Given the description of an element on the screen output the (x, y) to click on. 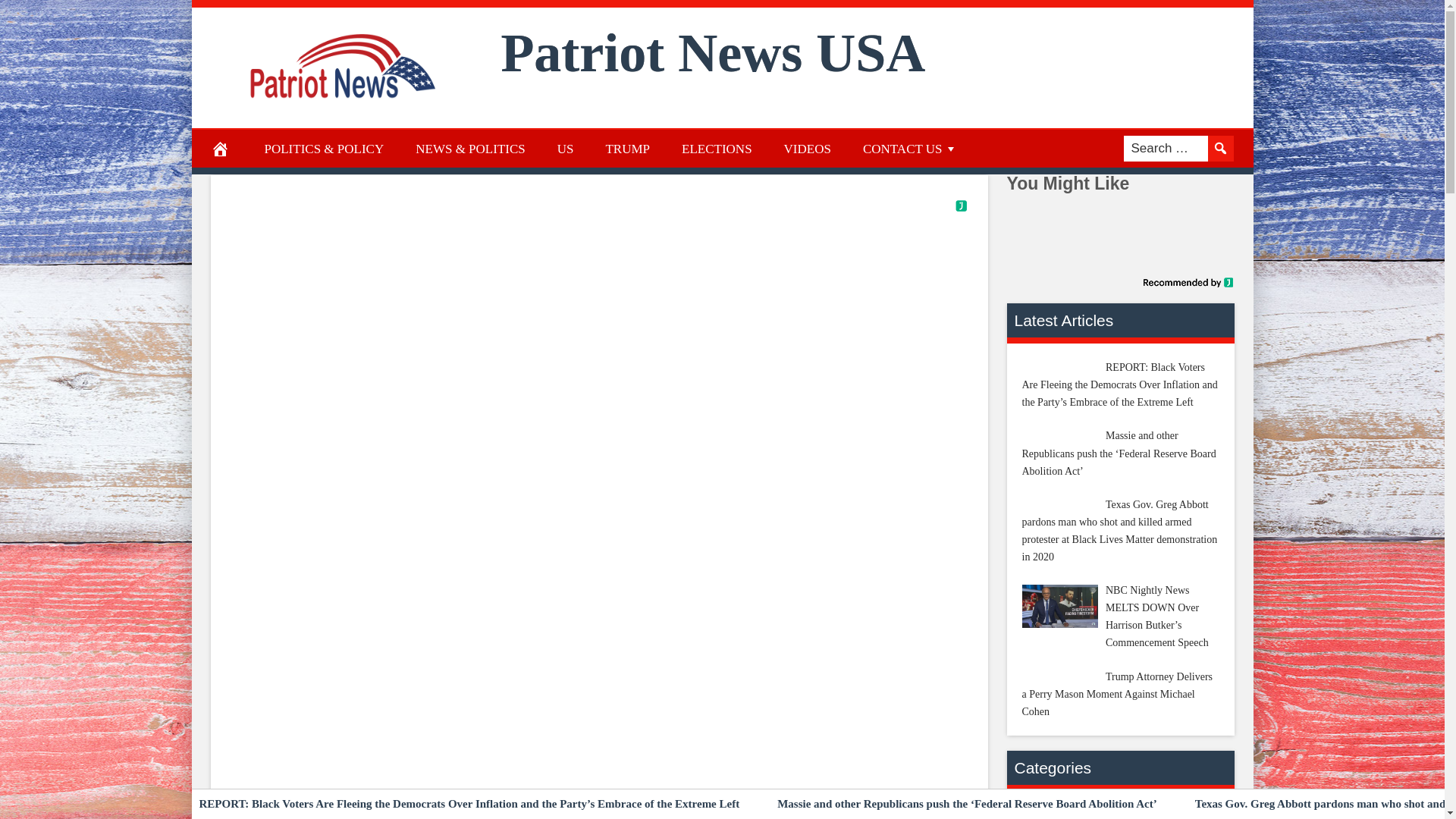
TRUMP (627, 148)
Patriot News USA (712, 52)
US (565, 148)
VIDEOS (807, 148)
ELECTIONS (716, 148)
CONTACT US (910, 148)
